Given the description of an element on the screen output the (x, y) to click on. 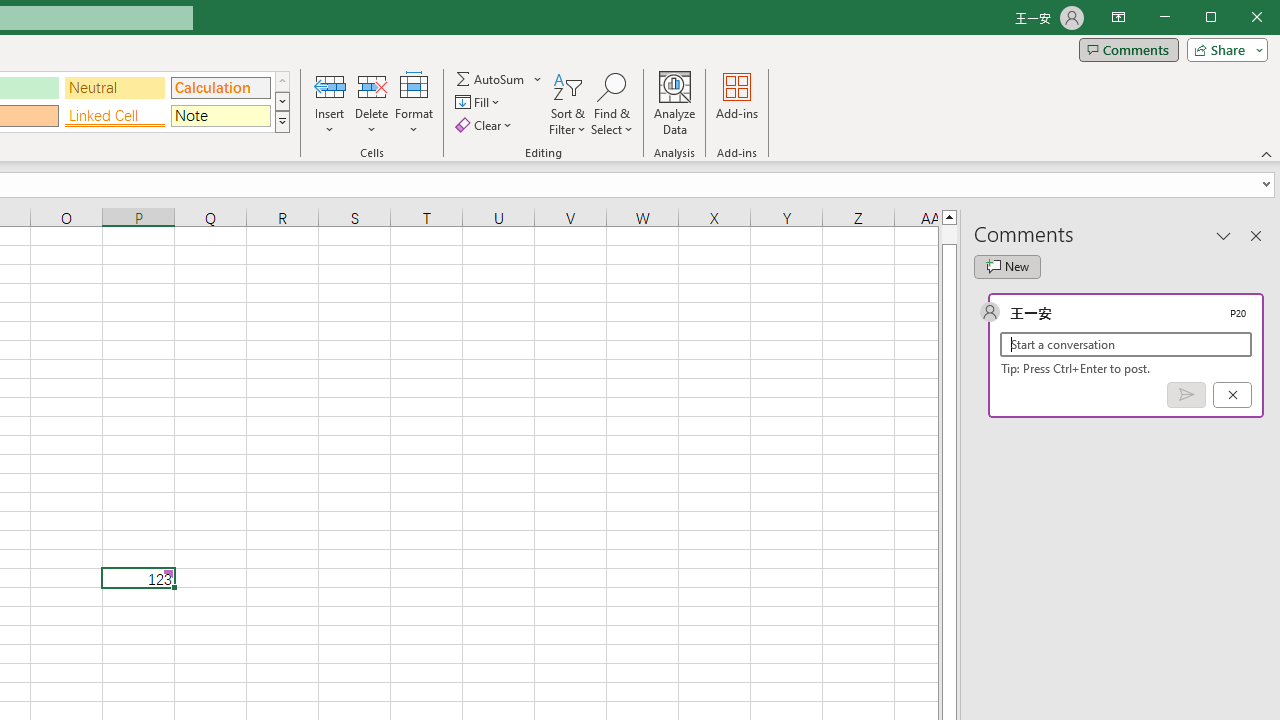
Analyze Data (674, 104)
Format (414, 104)
Find & Select (612, 104)
Neutral (114, 88)
